Given the description of an element on the screen output the (x, y) to click on. 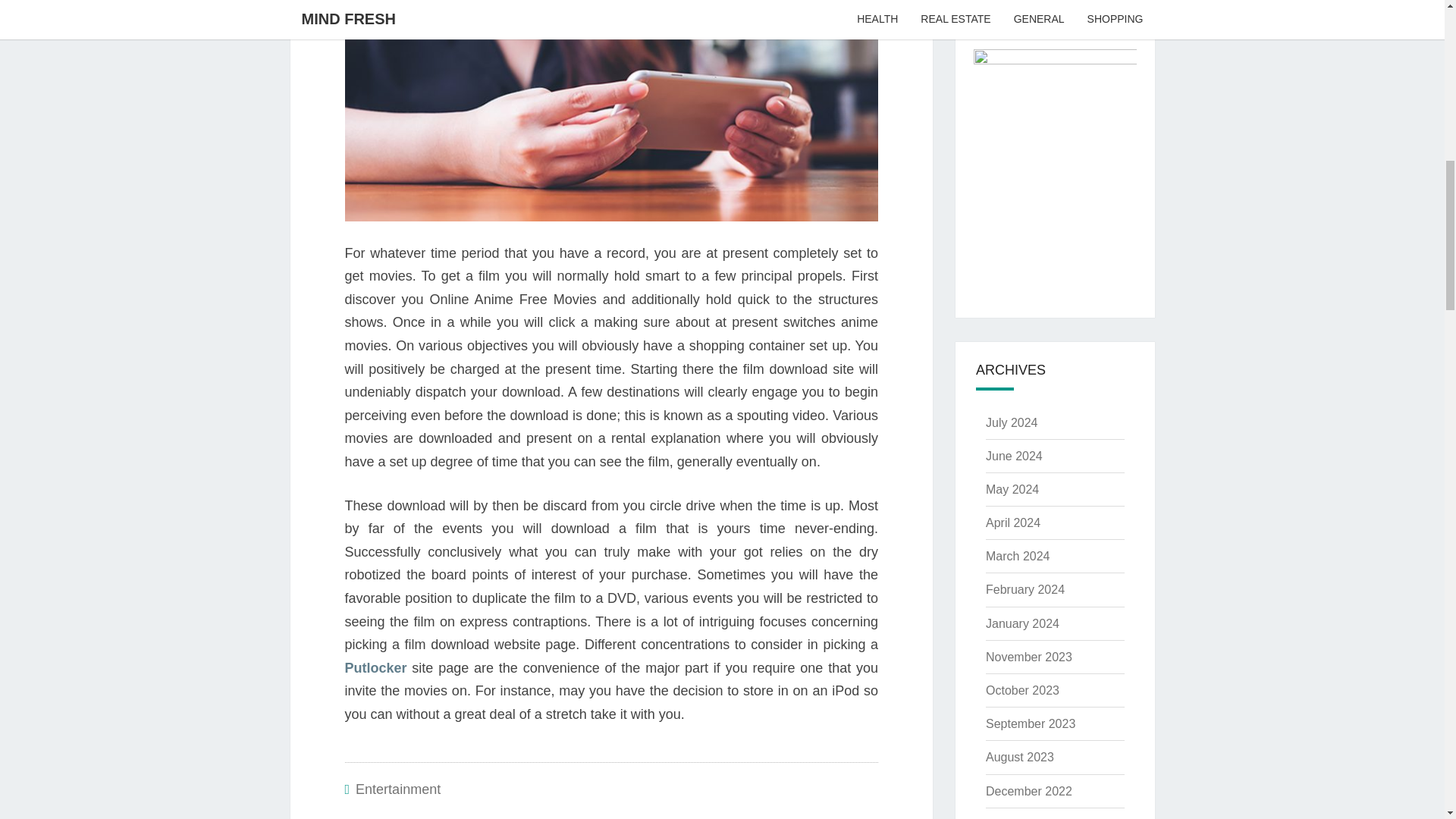
April 2024 (1013, 522)
March 2024 (1017, 555)
Putlocker (374, 667)
November 2023 (1028, 656)
October 2023 (1022, 689)
Entertainment (398, 789)
September 2023 (1030, 723)
May 2024 (1012, 489)
January 2024 (1022, 623)
June 2024 (1013, 455)
December 2022 (1028, 790)
August 2023 (1019, 757)
February 2024 (1024, 589)
July 2024 (1011, 422)
